Given the description of an element on the screen output the (x, y) to click on. 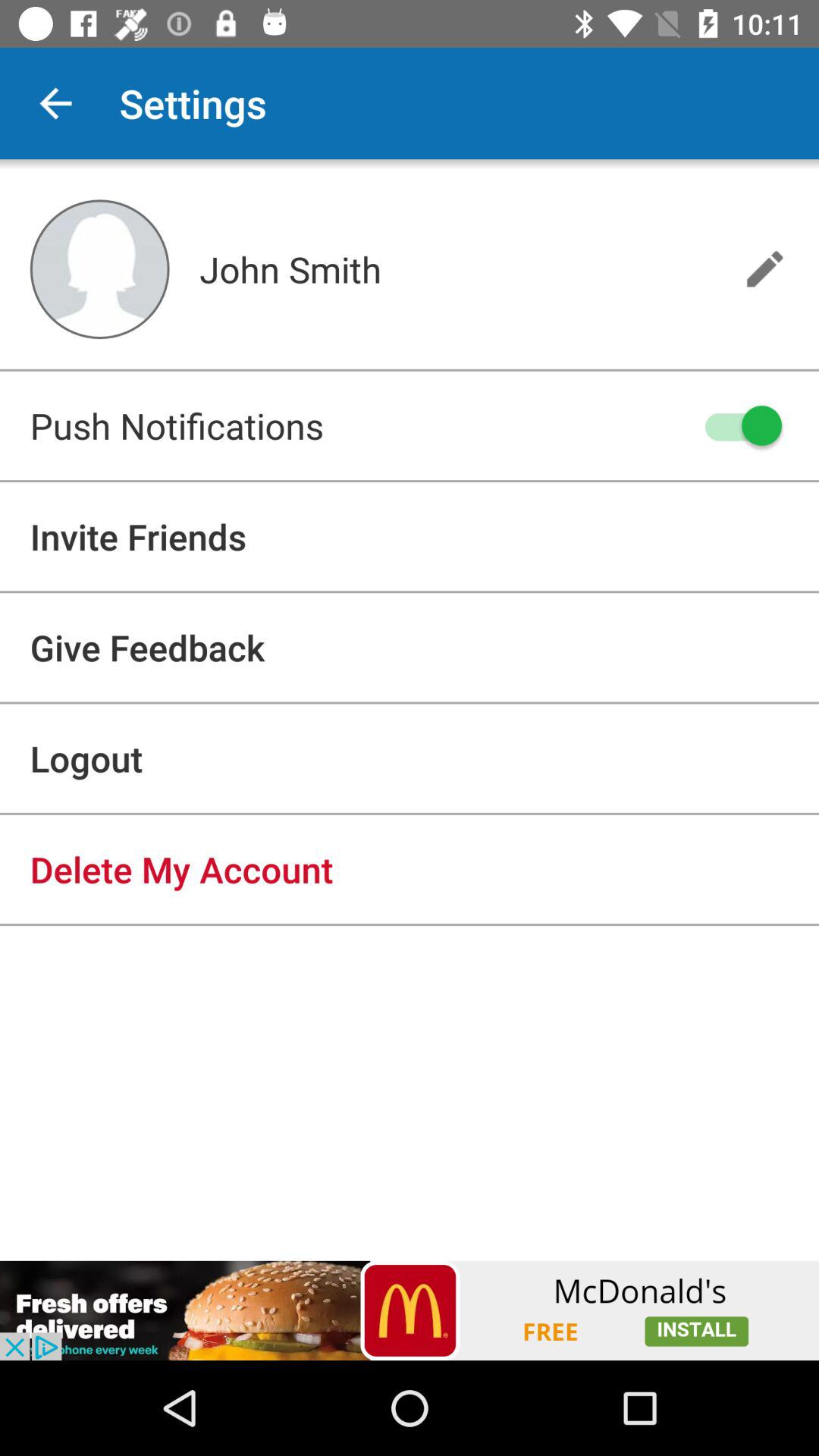
edit name (764, 268)
